Given the description of an element on the screen output the (x, y) to click on. 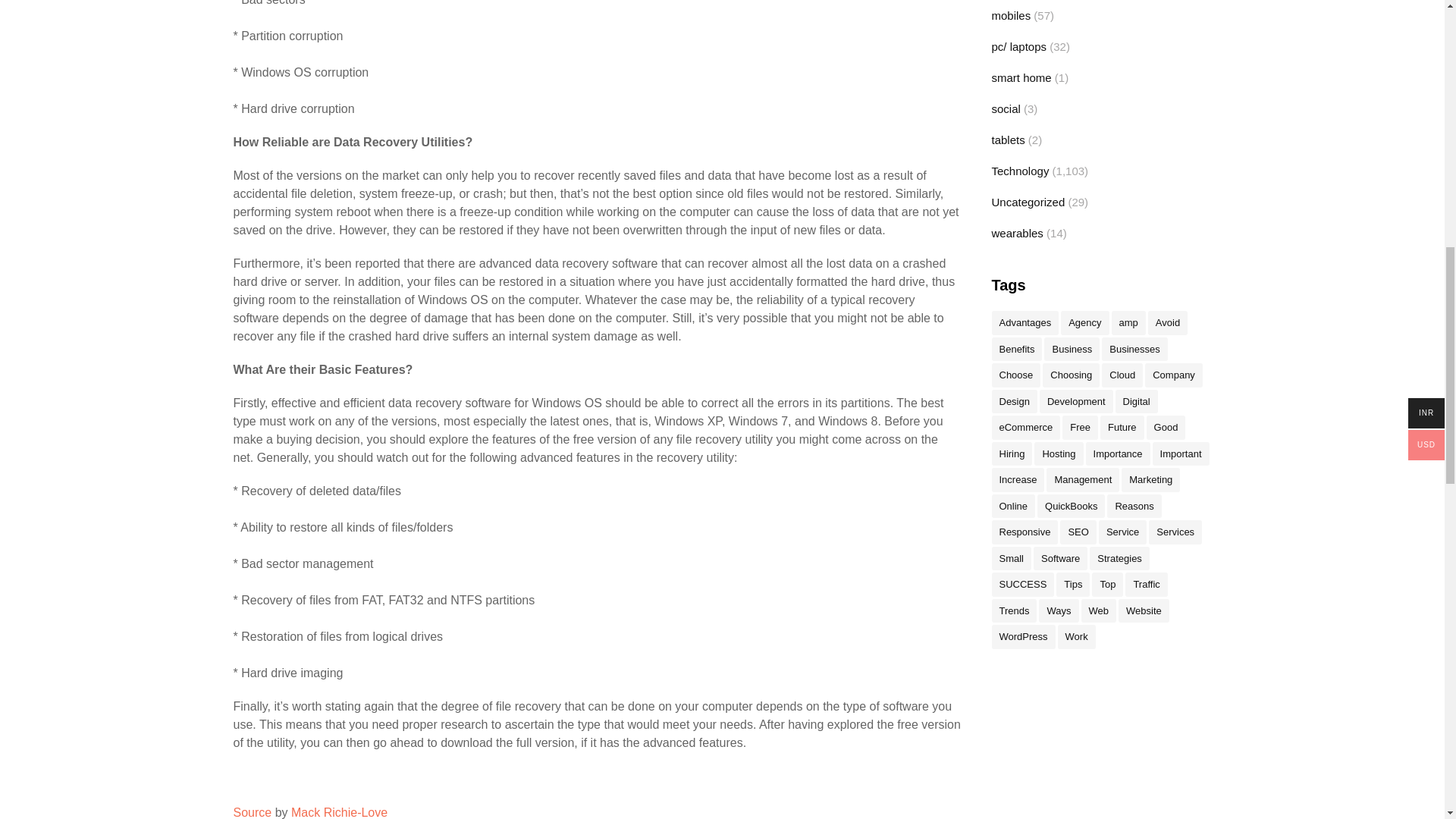
Source (252, 812)
Mack Richie-Love (339, 812)
Scroll To Top (1414, 22)
